Given the description of an element on the screen output the (x, y) to click on. 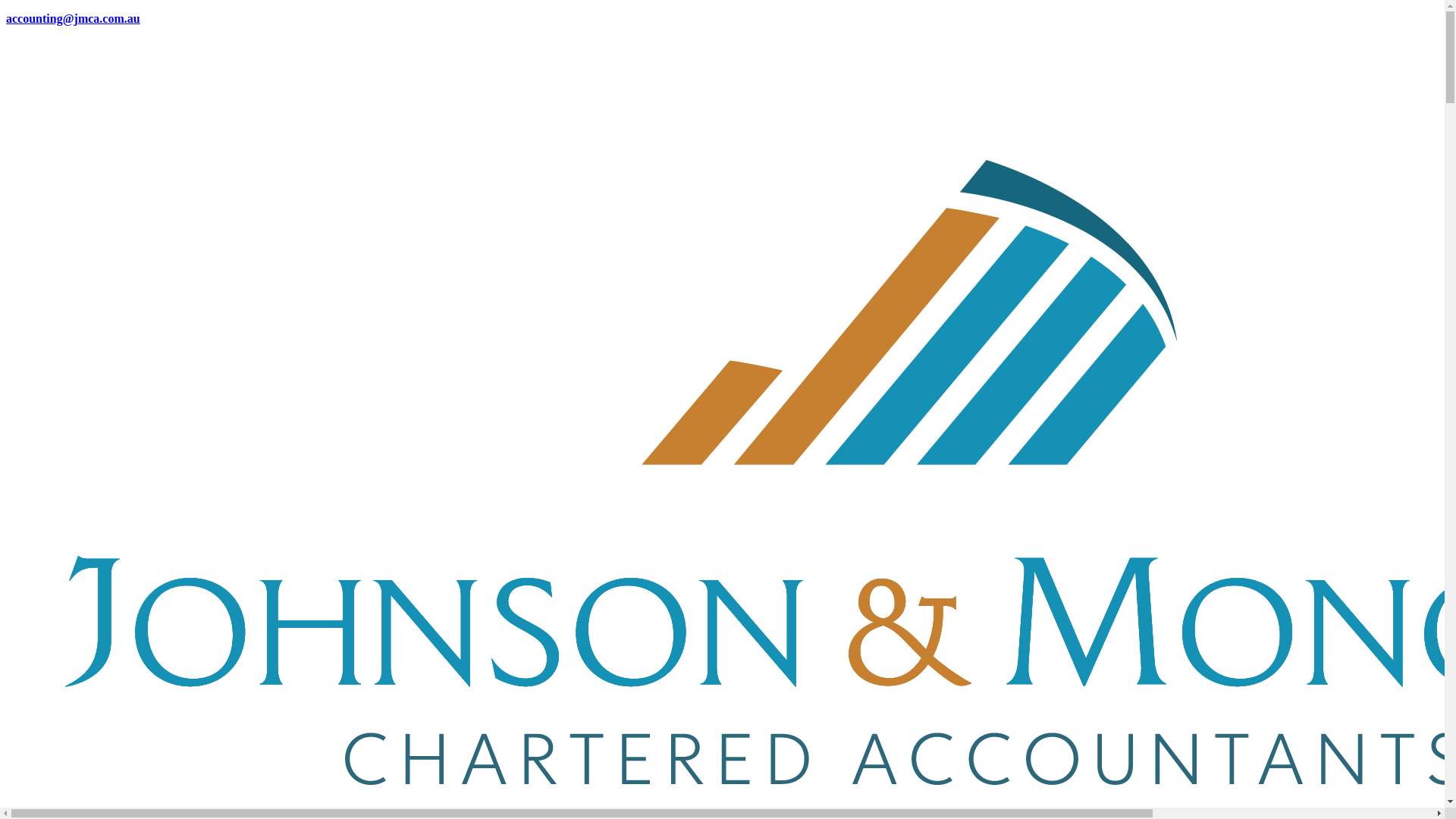
accounting@jmca.com.au Element type: text (73, 18)
